Given the description of an element on the screen output the (x, y) to click on. 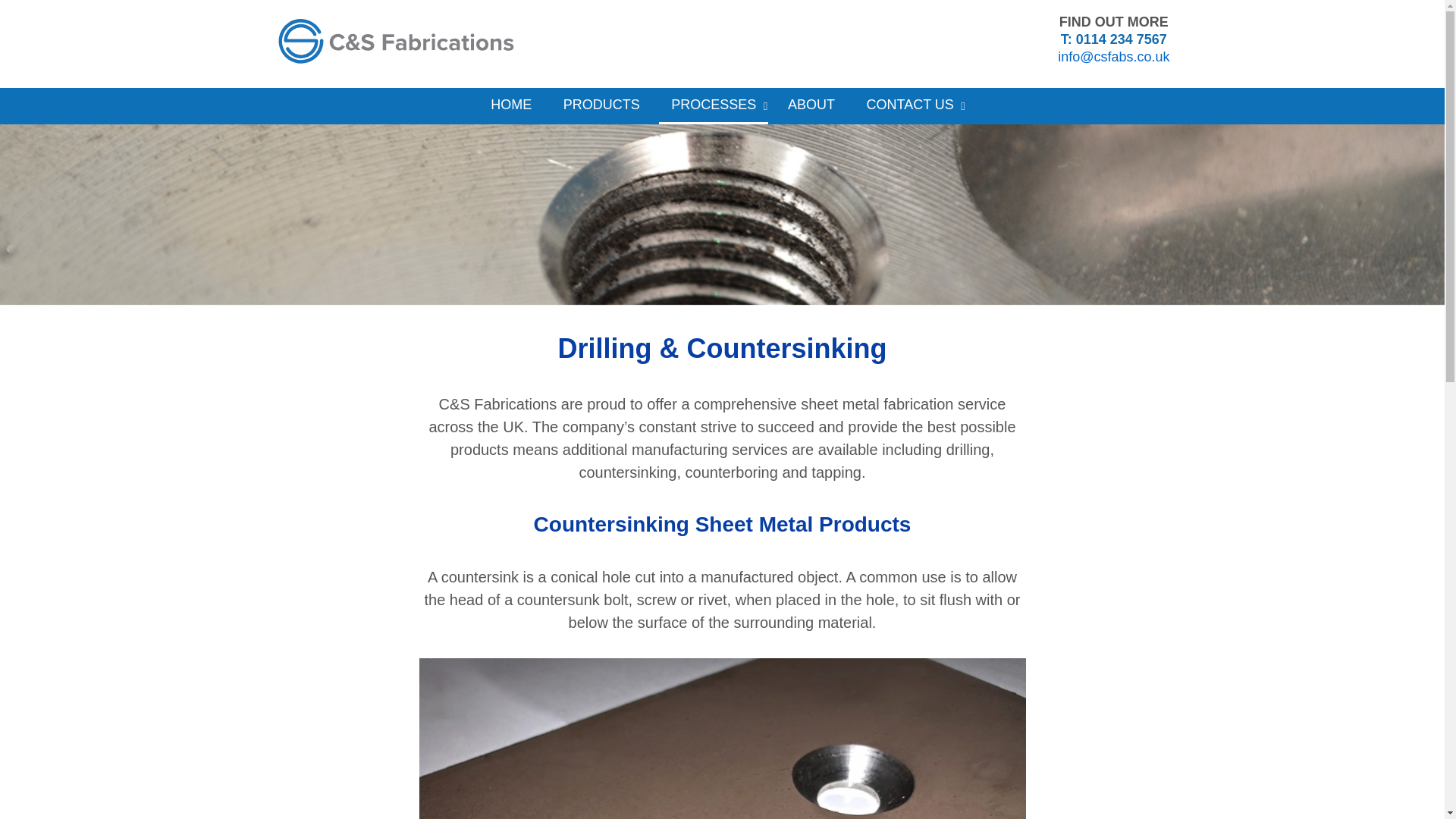
CONTACT US (909, 104)
ABOUT (811, 104)
HOME (511, 104)
PRODUCTS (601, 104)
PROCESSES (713, 105)
